Given the description of an element on the screen output the (x, y) to click on. 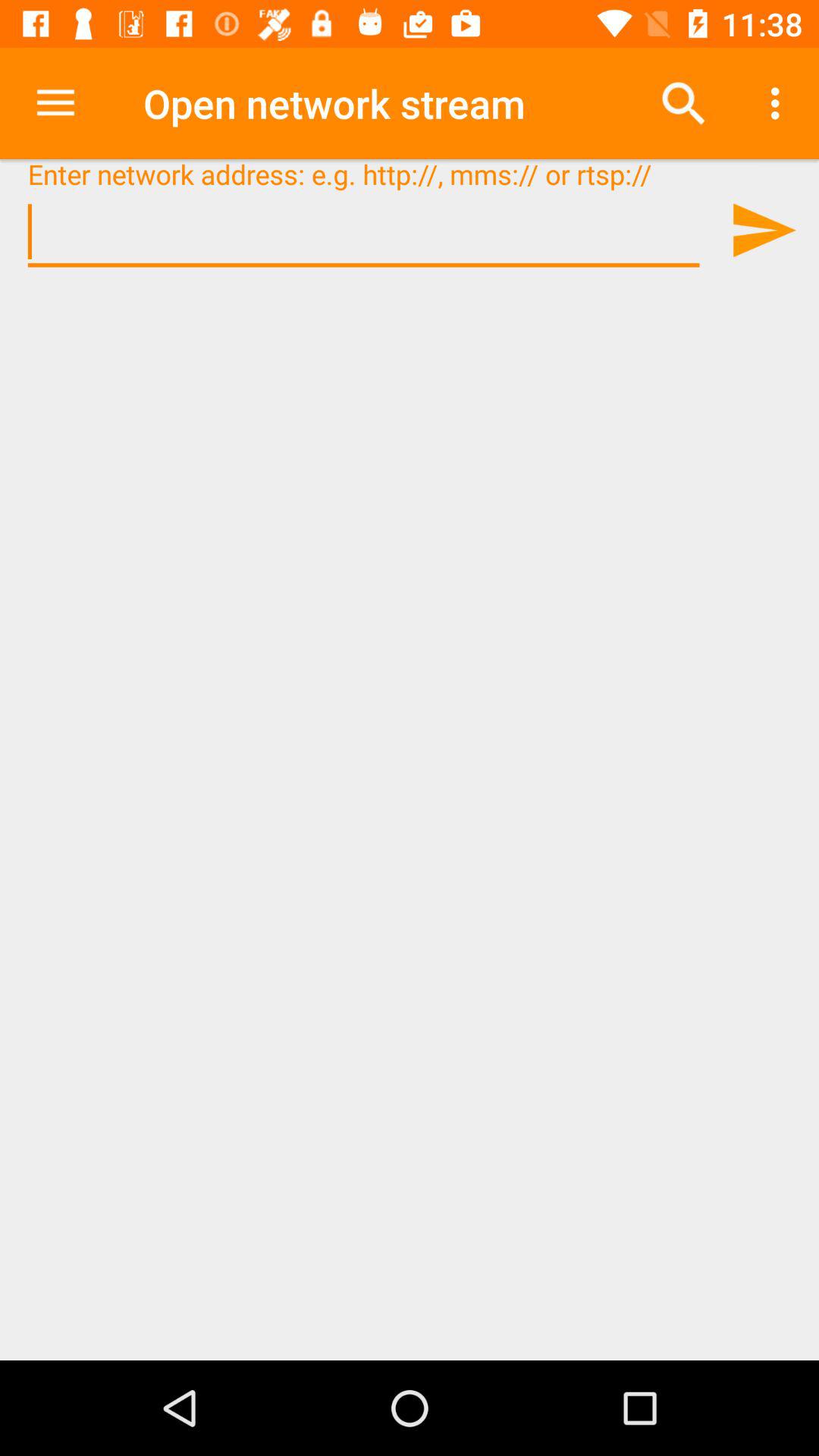
open stream (763, 229)
